Given the description of an element on the screen output the (x, y) to click on. 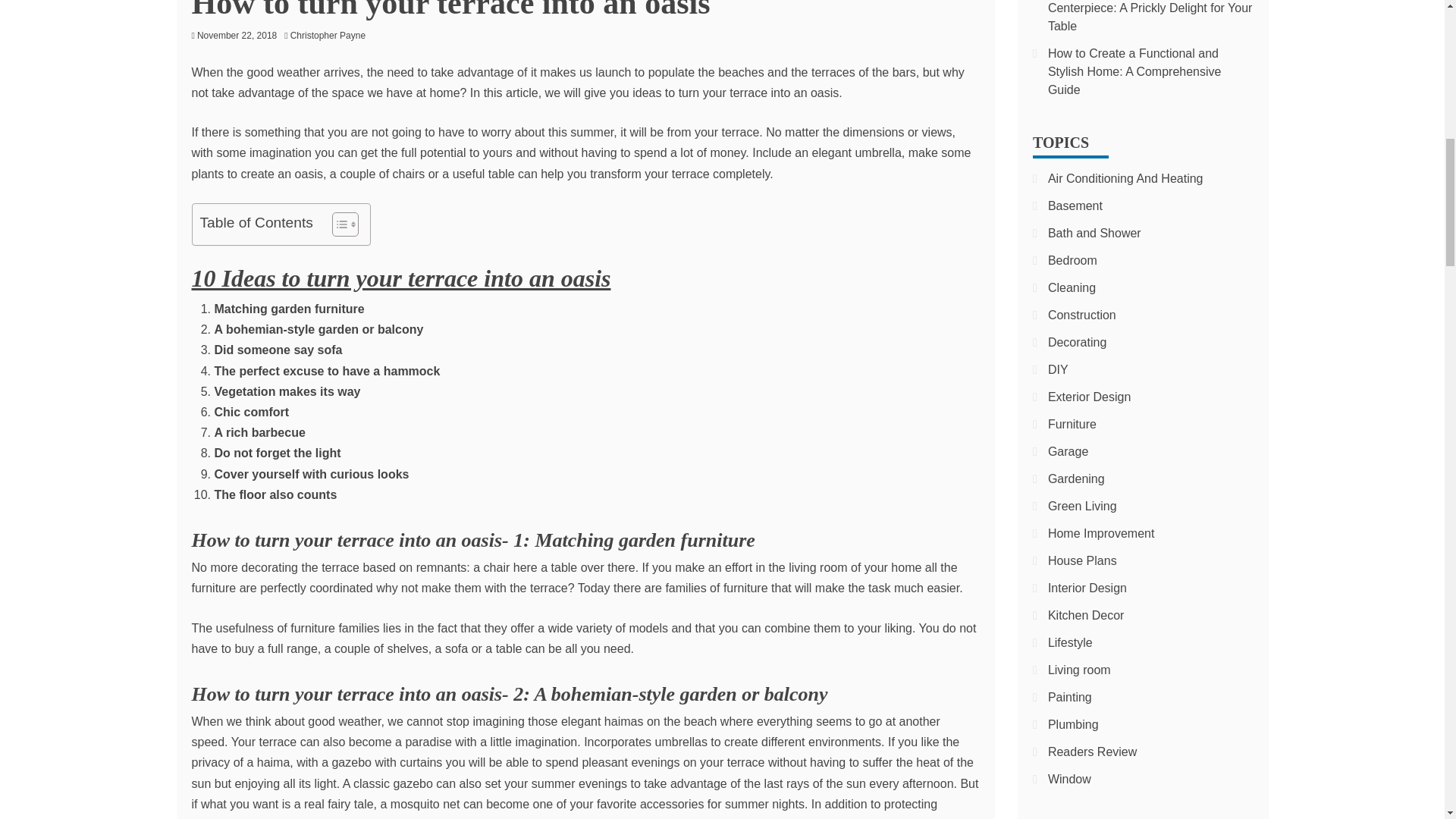
November 22, 2018 (236, 35)
Christopher Payne (330, 35)
